Given the description of an element on the screen output the (x, y) to click on. 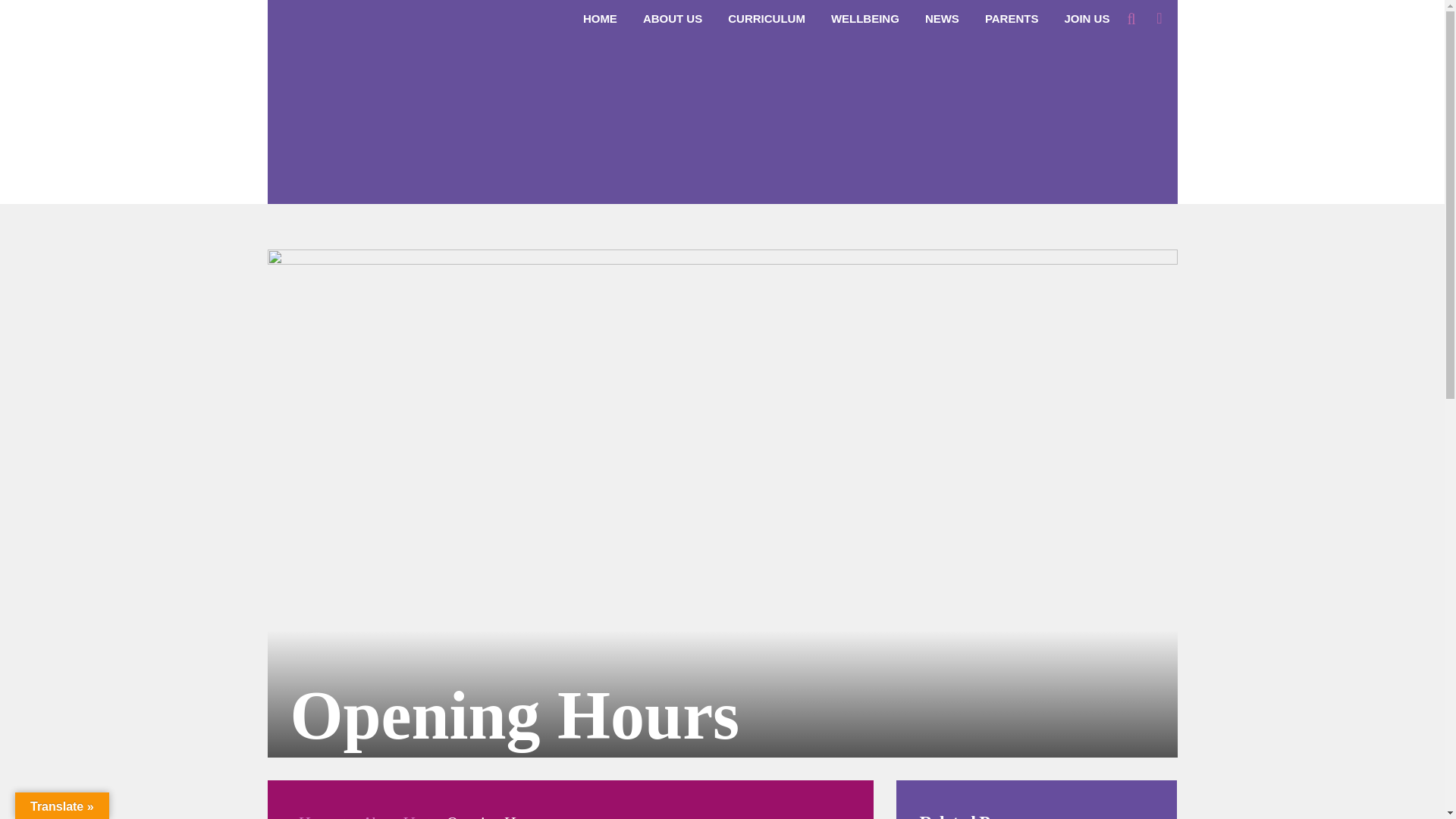
CURRICULUM (766, 18)
ABOUT US (672, 18)
HOME (600, 18)
